Given the description of an element on the screen output the (x, y) to click on. 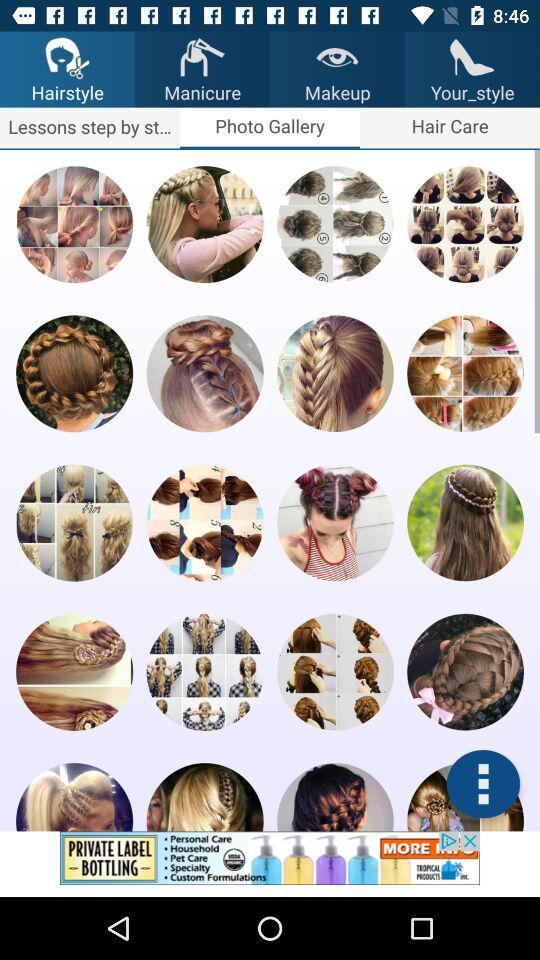
open this image (74, 671)
